Given the description of an element on the screen output the (x, y) to click on. 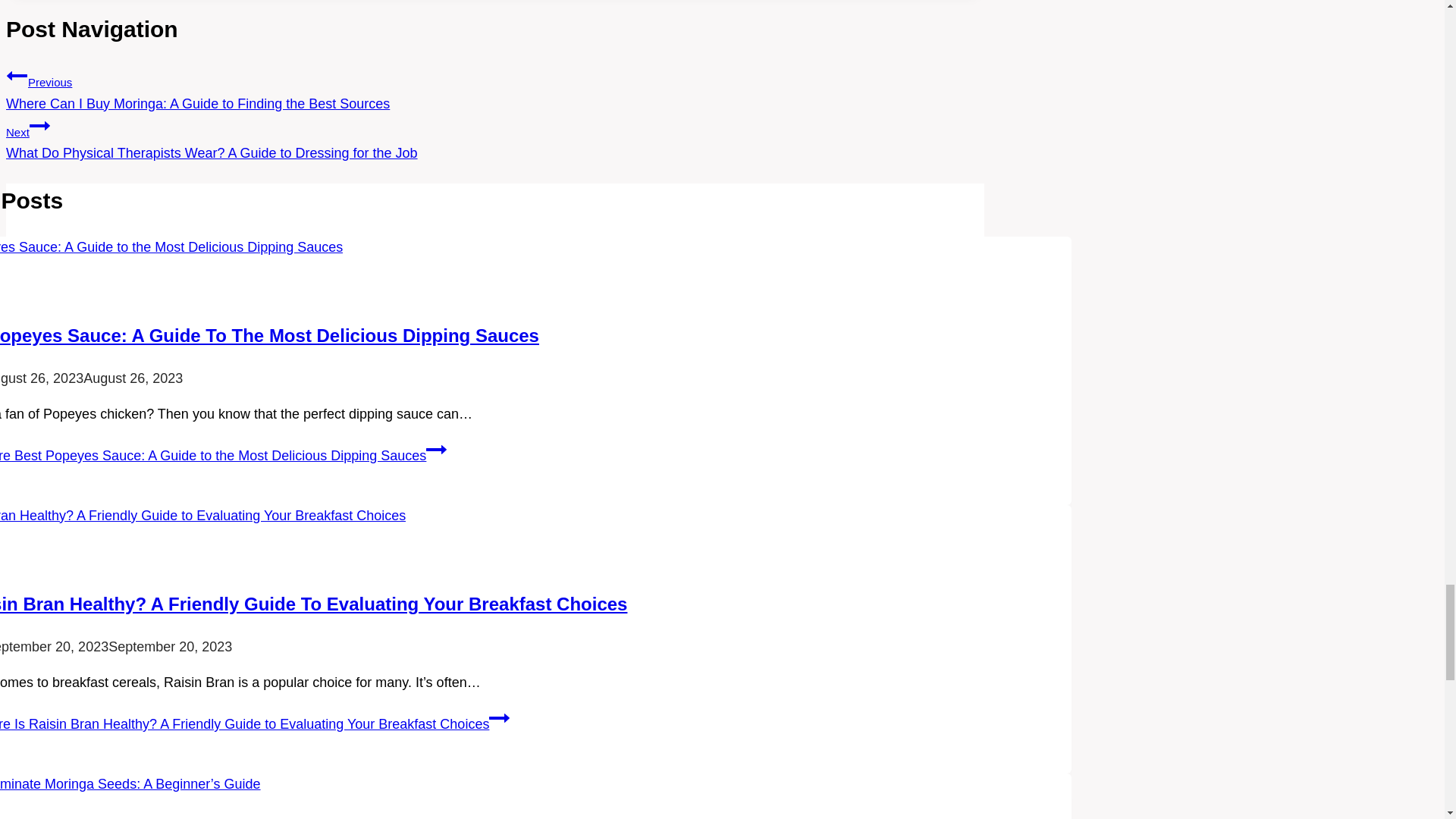
Previous (16, 75)
Continue (39, 125)
